Given the description of an element on the screen output the (x, y) to click on. 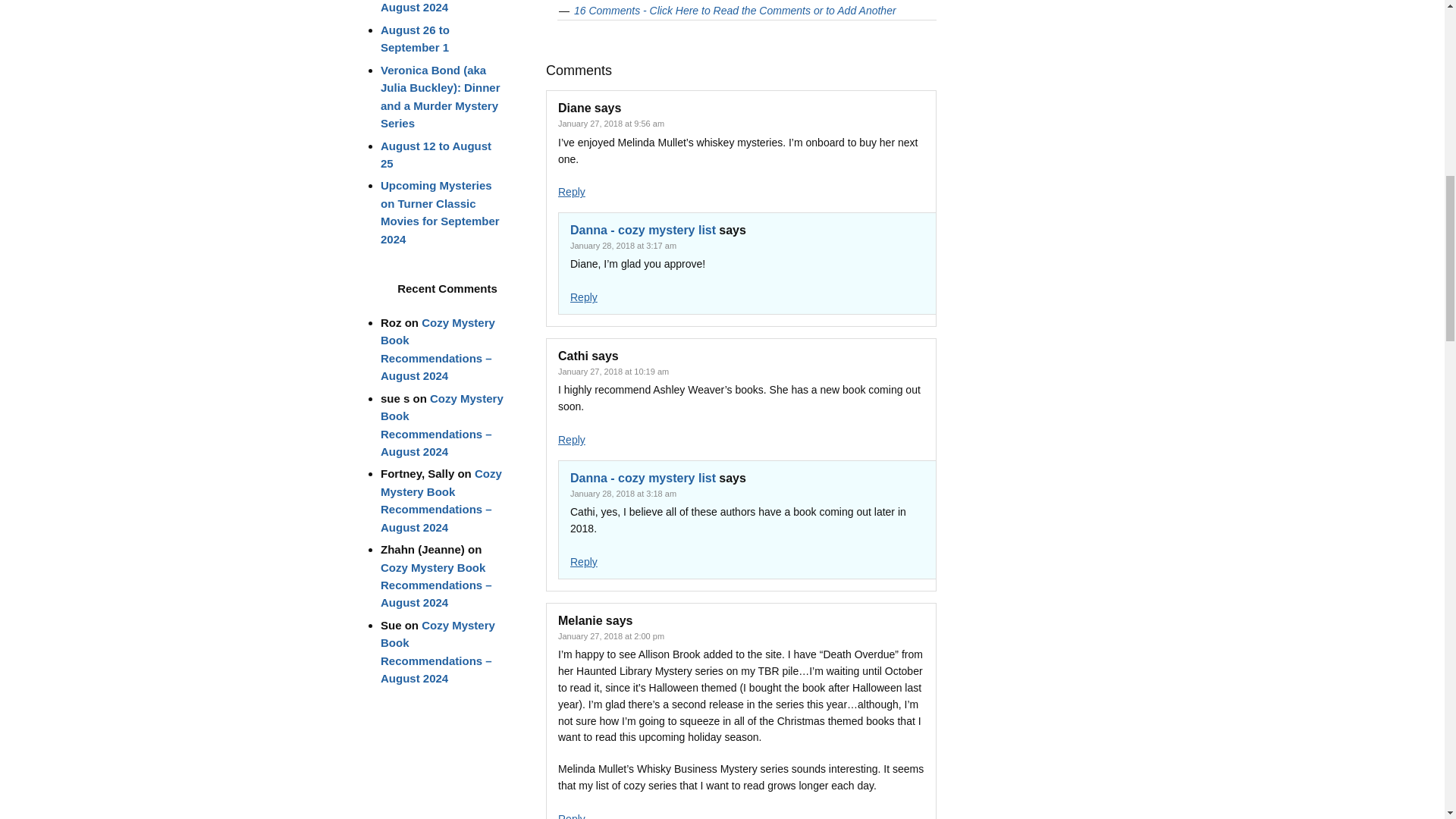
January 27, 2018 at 2:00 pm (610, 635)
Danna - cozy mystery list (643, 229)
January 28, 2018 at 3:18 am (623, 492)
Reply (583, 297)
January 28, 2018 at 3:17 am (623, 245)
Reply (571, 191)
January 27, 2018 at 9:56 am (610, 122)
Reply (571, 816)
Reply (583, 562)
